Given the description of an element on the screen output the (x, y) to click on. 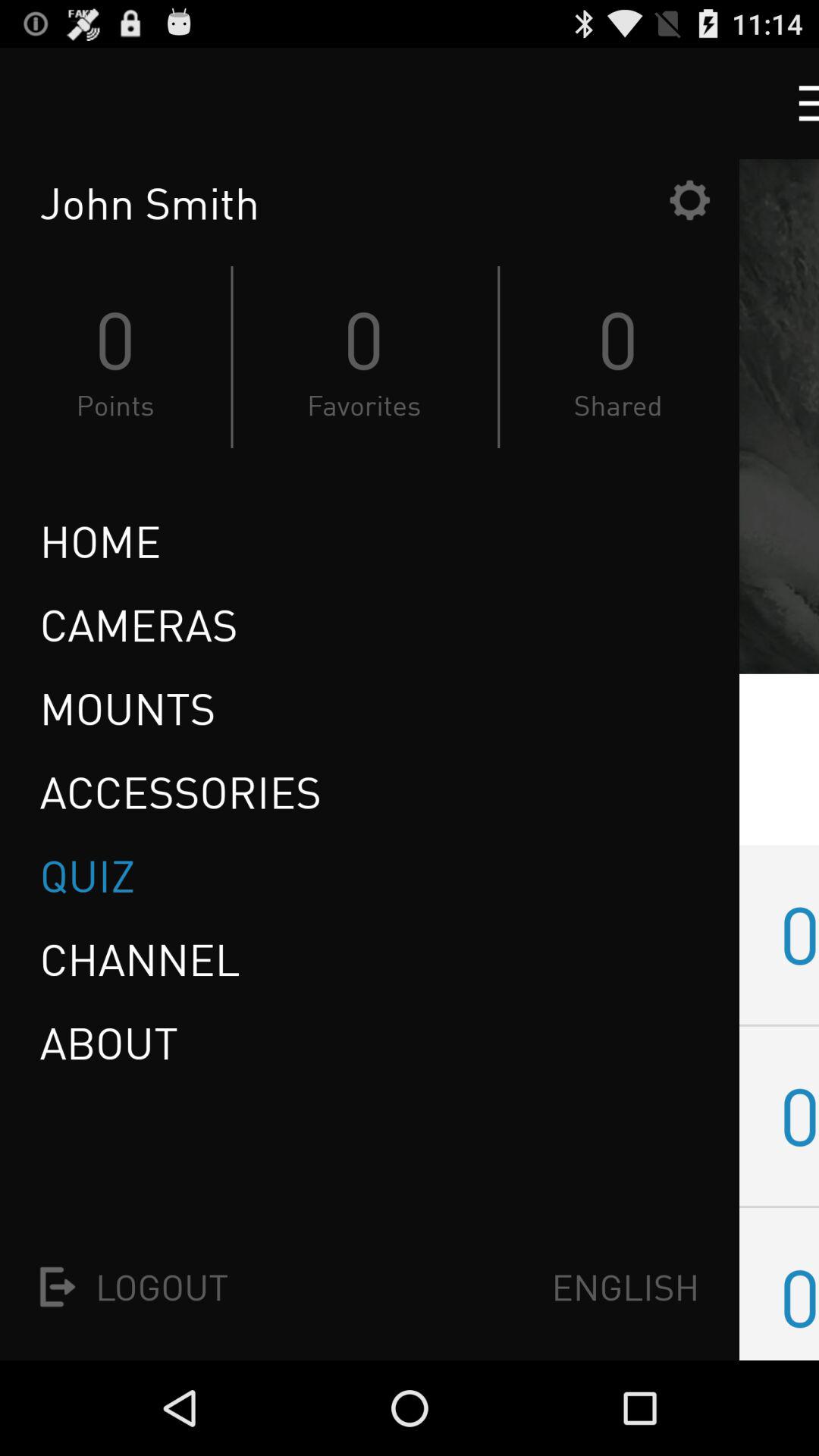
tap channel (139, 959)
